Given the description of an element on the screen output the (x, y) to click on. 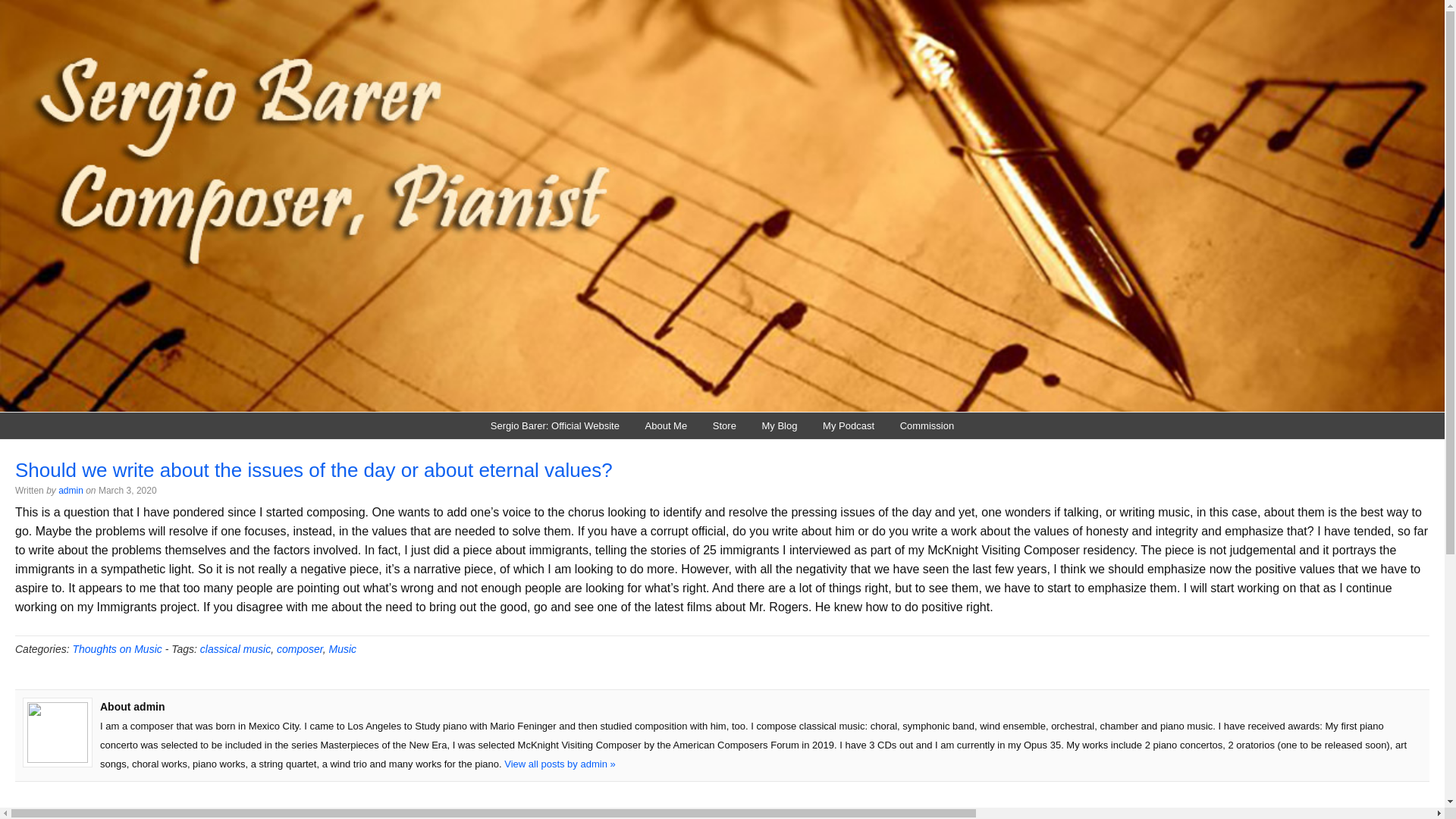
admin (70, 490)
Music (342, 648)
classical music (235, 648)
About Me (665, 425)
My Blog (780, 425)
Sergio Barer: Official Website (554, 425)
composer (299, 648)
My Podcast (847, 425)
Thoughts on Music (116, 648)
Store (724, 425)
Commission (927, 425)
